Given the description of an element on the screen output the (x, y) to click on. 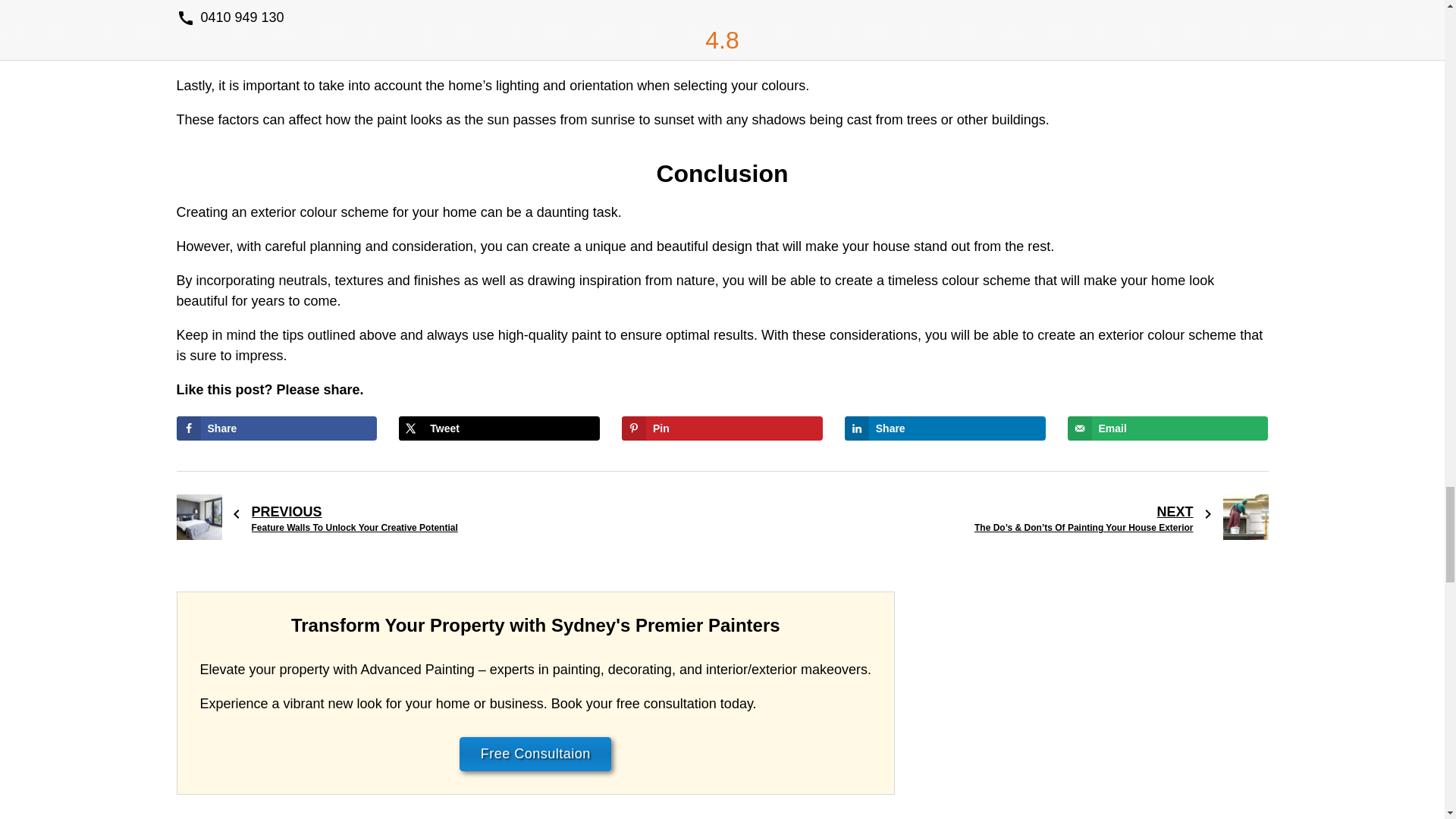
Share on X (498, 428)
Save to Pinterest (721, 428)
Share on LinkedIn (944, 428)
Share on Facebook (276, 428)
Send over email (1167, 428)
